Given the description of an element on the screen output the (x, y) to click on. 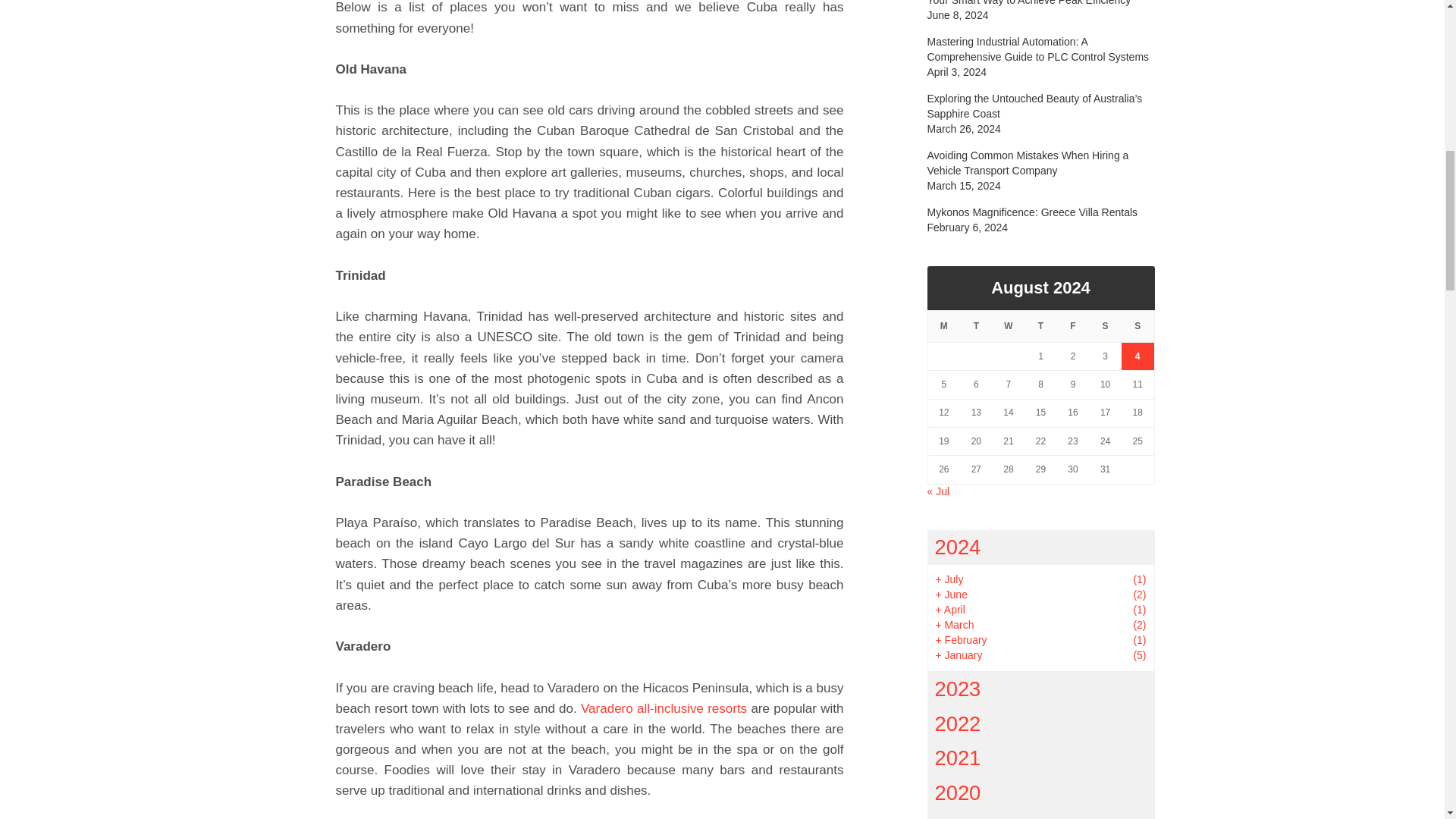
Varadero all-inclusive resorts (663, 708)
